Given the description of an element on the screen output the (x, y) to click on. 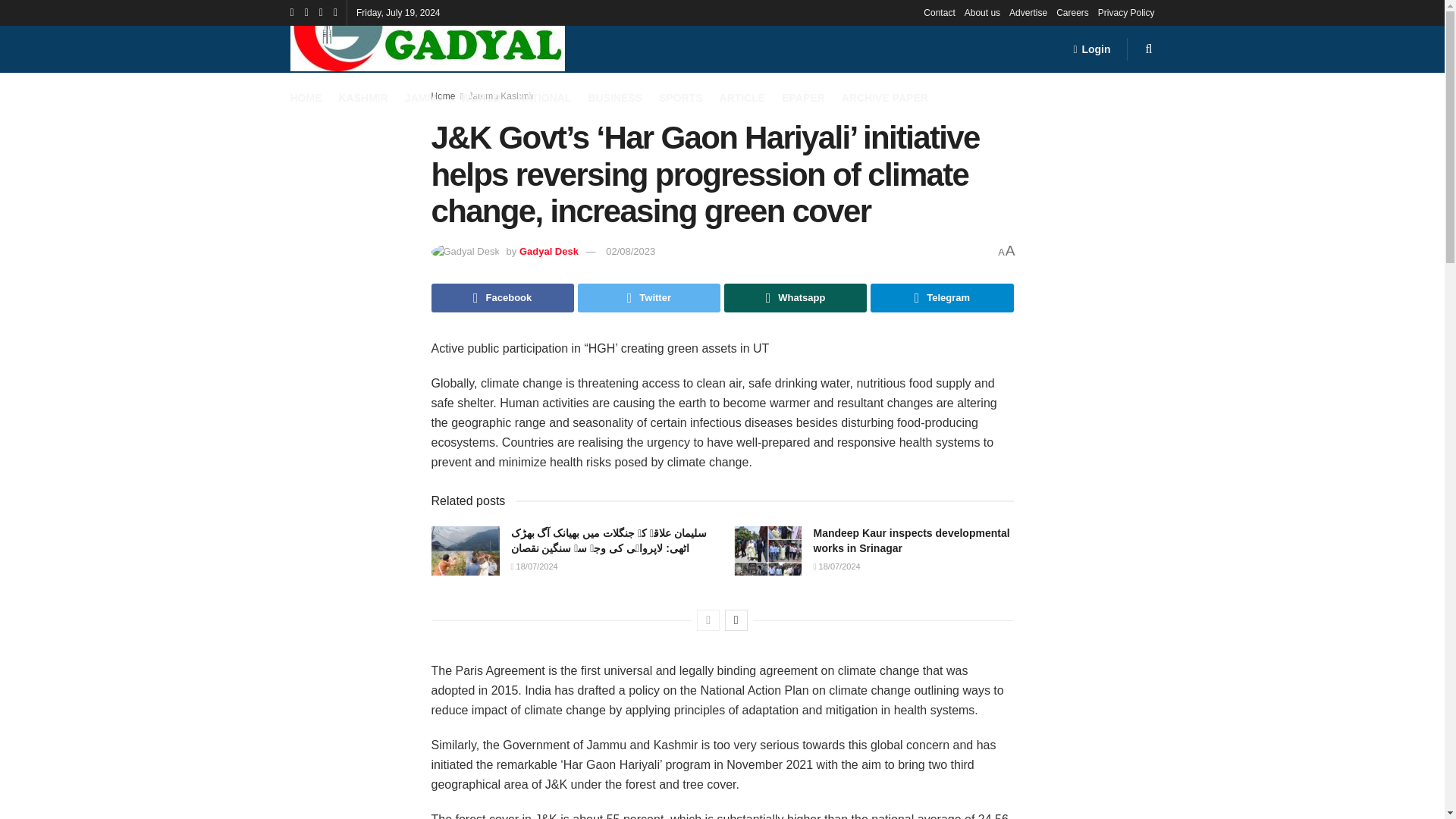
EPAPER (803, 97)
Home (442, 95)
NATIONAL (543, 97)
Jammu Kashmir (501, 95)
Gadyal Desk (548, 251)
BUSINESS (615, 97)
About us (981, 12)
Telegram (941, 297)
Twitter (649, 297)
ARCHIVE PAPER (884, 97)
Contact (939, 12)
ARTICLE (742, 97)
Previous (708, 619)
Advertise (1027, 12)
Careers (1073, 12)
